Given the description of an element on the screen output the (x, y) to click on. 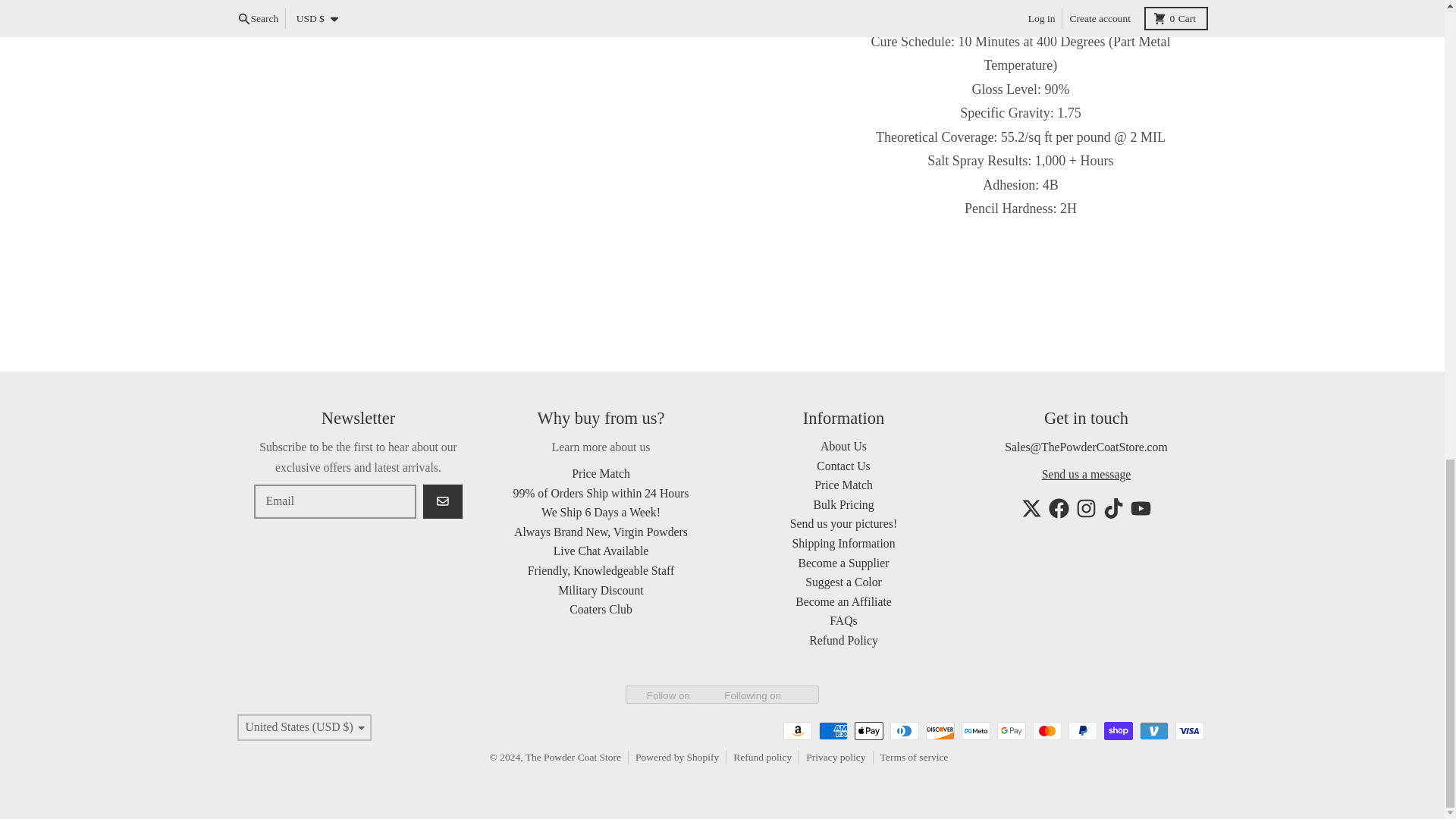
Facebook - The Powder Coat Store (1058, 507)
Instagram - The Powder Coat Store (1085, 507)
TikTok - The Powder Coat Store (1113, 507)
Twitter - The Powder Coat Store (1032, 507)
YouTube - The Powder Coat Store (1141, 507)
